Given the description of an element on the screen output the (x, y) to click on. 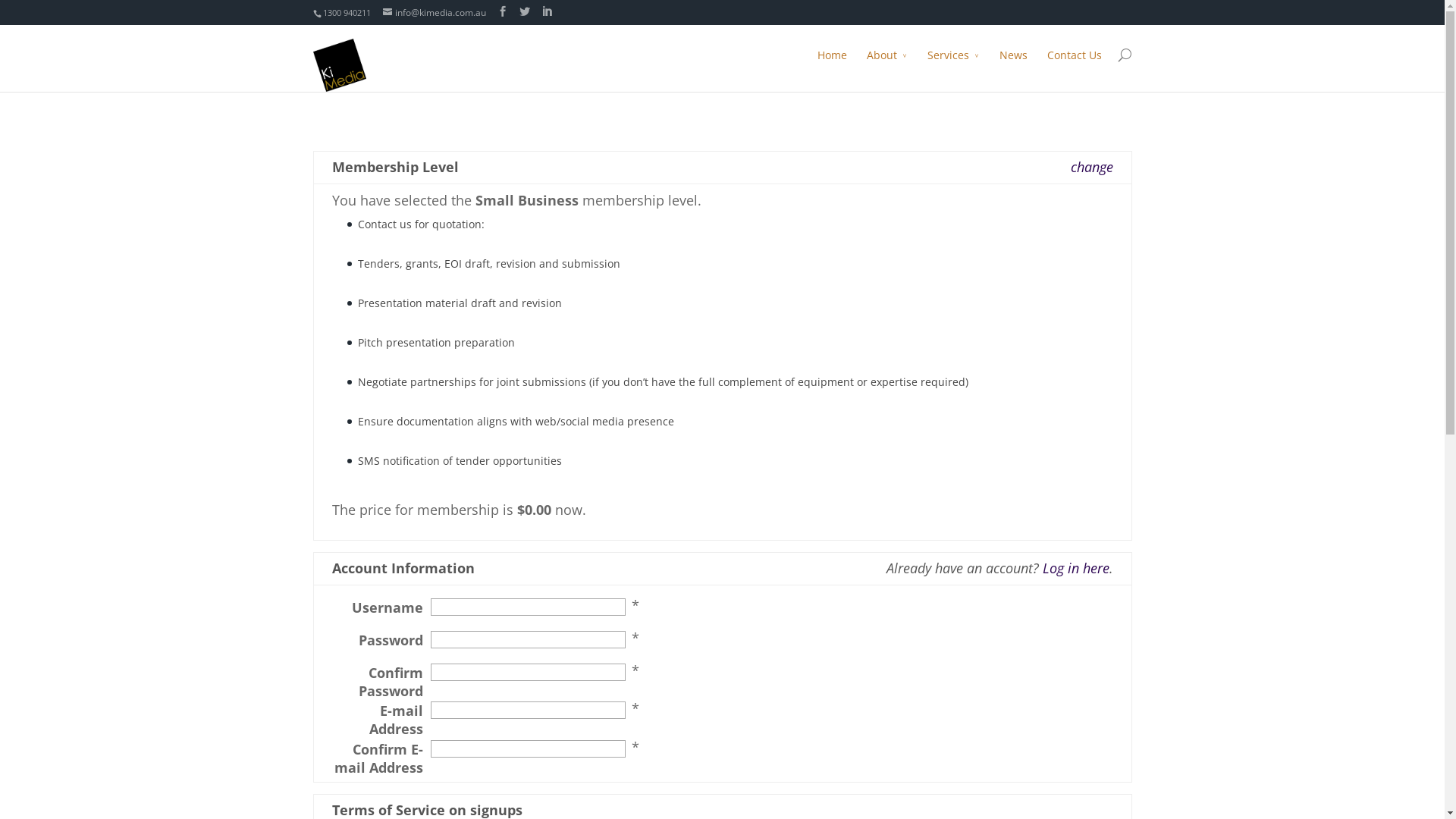
About Element type: text (886, 65)
change Element type: text (1091, 166)
Log in here Element type: text (1074, 567)
info@kimedia.com.au Element type: text (433, 12)
News Element type: text (1013, 65)
Home Element type: text (832, 65)
Services Element type: text (952, 65)
Contact Us Element type: text (1073, 65)
